Given the description of an element on the screen output the (x, y) to click on. 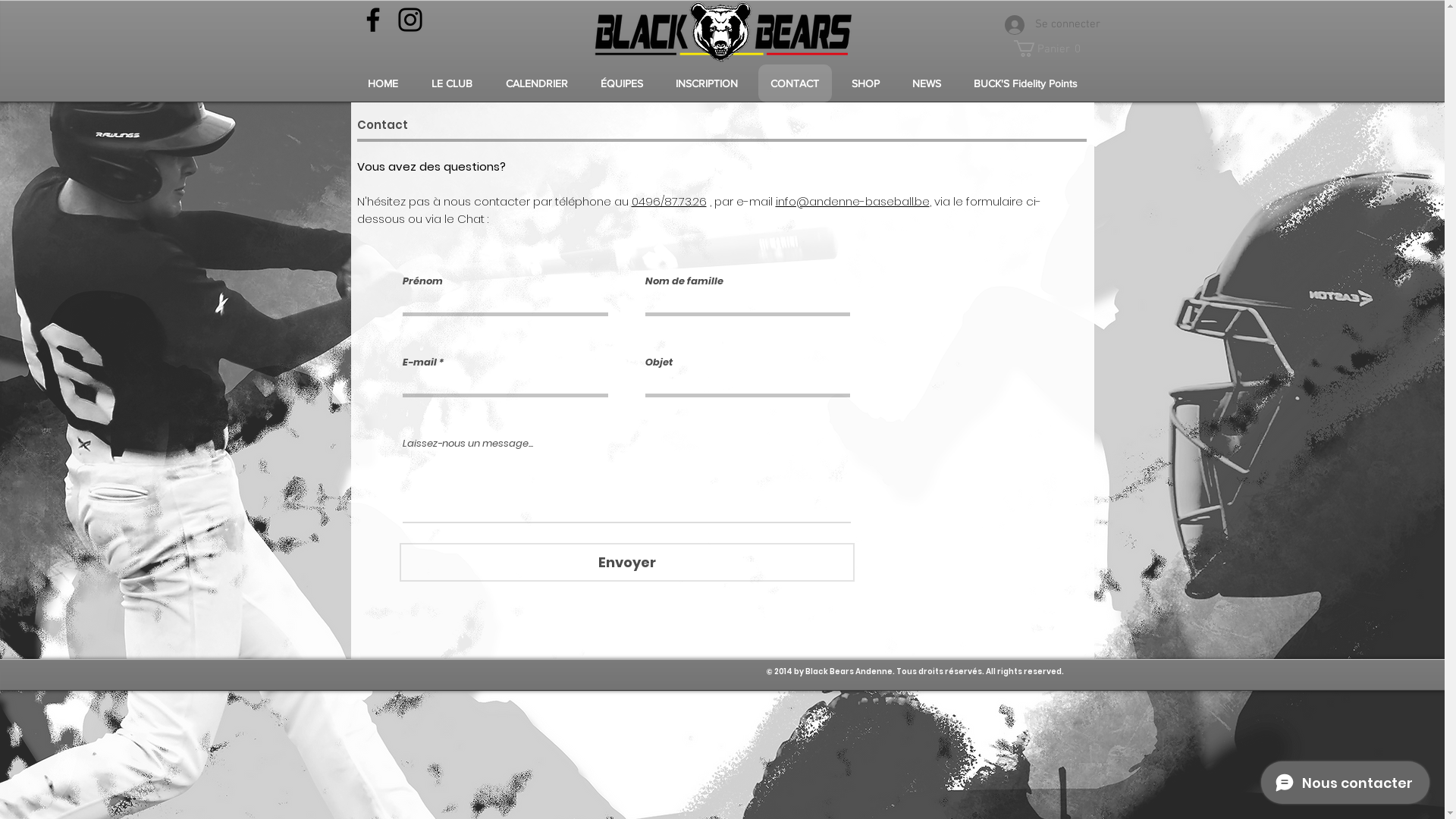
Se connecter Element type: text (1038, 24)
SHOP Element type: text (864, 83)
CALENDRIER Element type: text (536, 83)
INSCRIPTION Element type: text (705, 83)
Panier
0 Element type: text (1050, 48)
0496/87.73.26 Element type: text (668, 201)
CONTACT Element type: text (794, 83)
Envoyer Element type: text (625, 561)
LE CLUB Element type: text (451, 83)
HOME Element type: text (382, 83)
info@andenne-baseball.be Element type: text (851, 201)
BUCK'S Fidelity Points Element type: text (1025, 83)
NEWS Element type: text (926, 83)
